Given the description of an element on the screen output the (x, y) to click on. 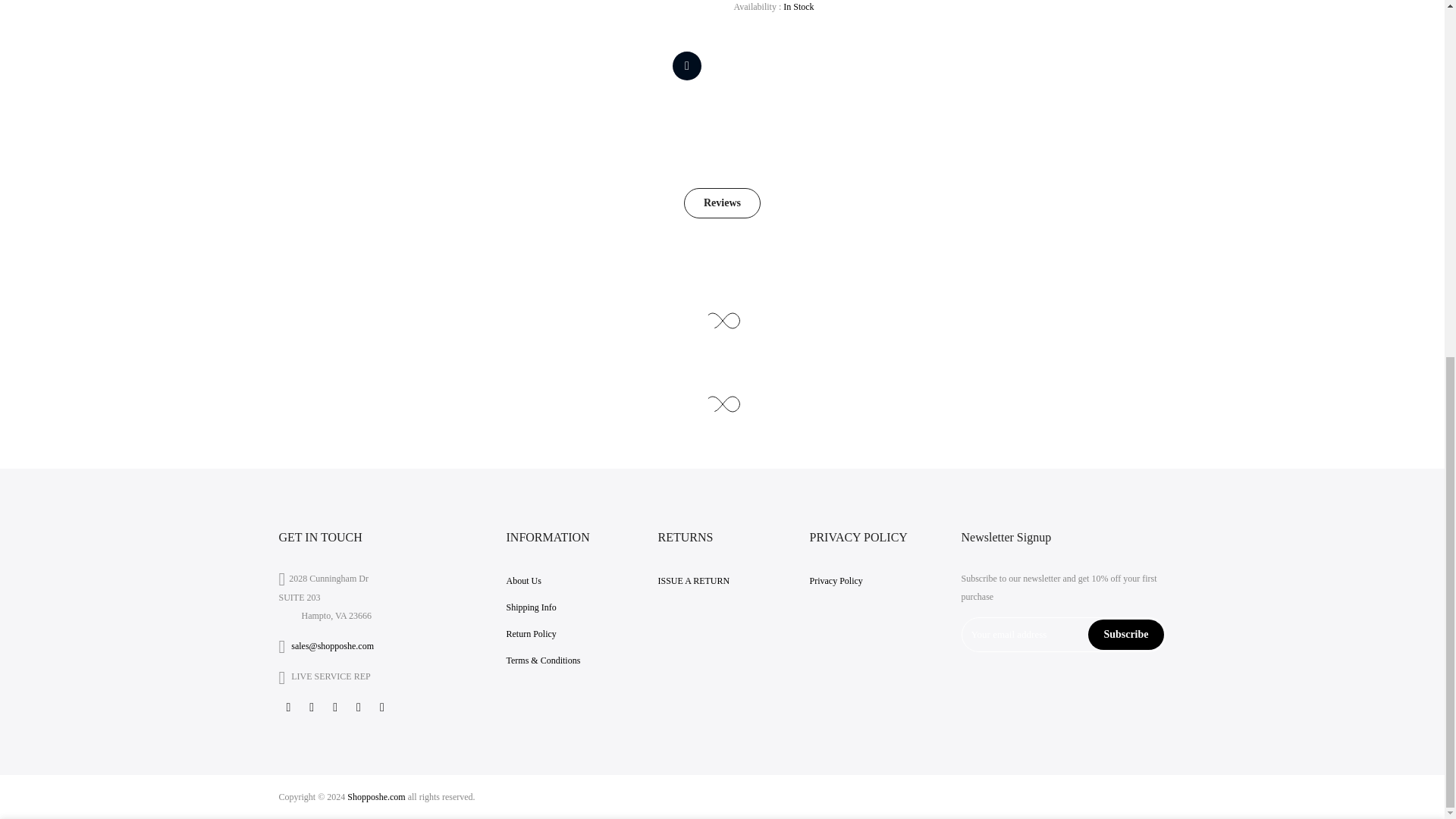
1 (1001, 224)
Reviews (722, 203)
Shipping Info (531, 606)
About Us (523, 580)
